Given the description of an element on the screen output the (x, y) to click on. 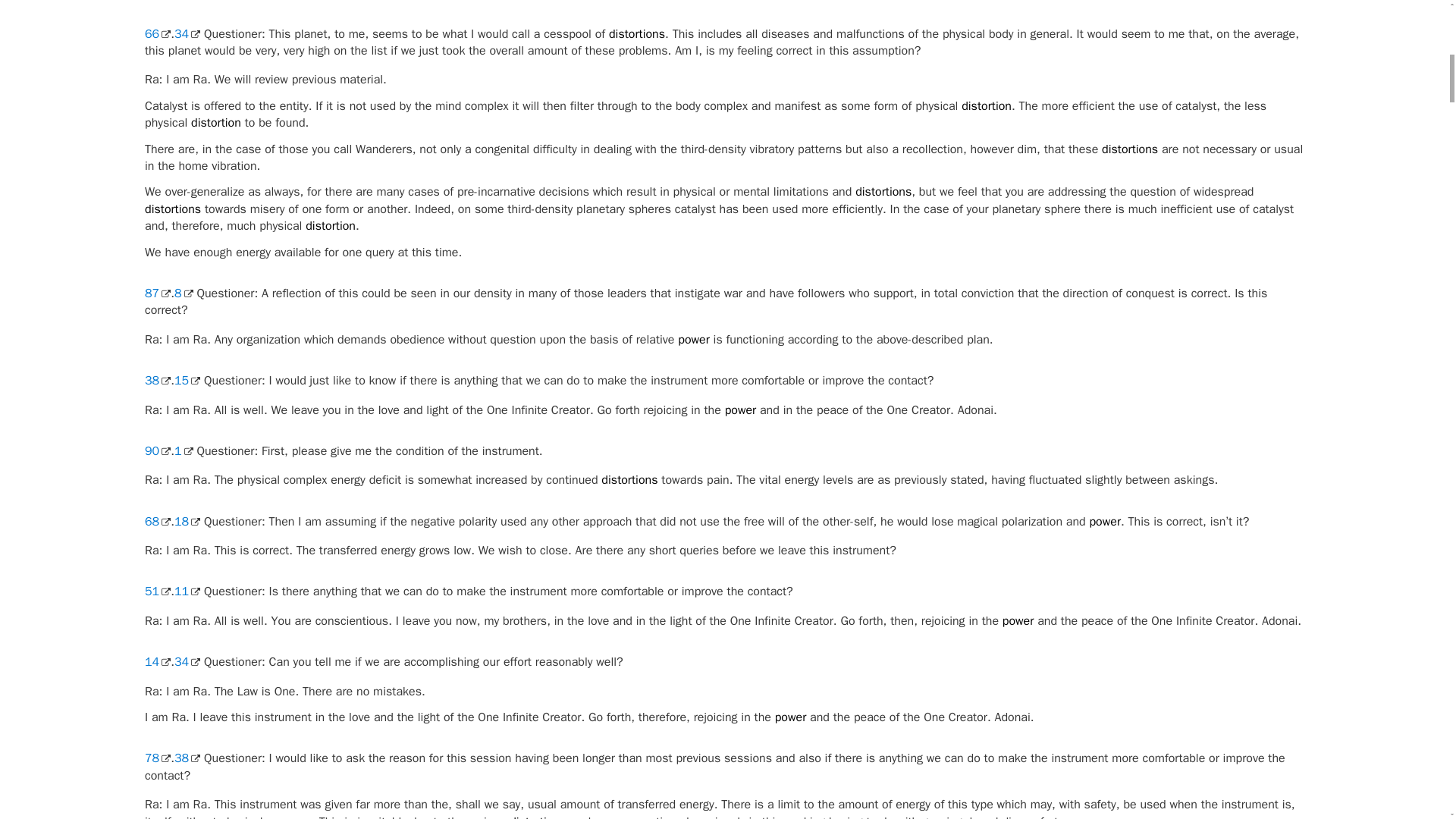
87 (157, 293)
8 (183, 293)
66 (157, 33)
34 (187, 33)
